Given the description of an element on the screen output the (x, y) to click on. 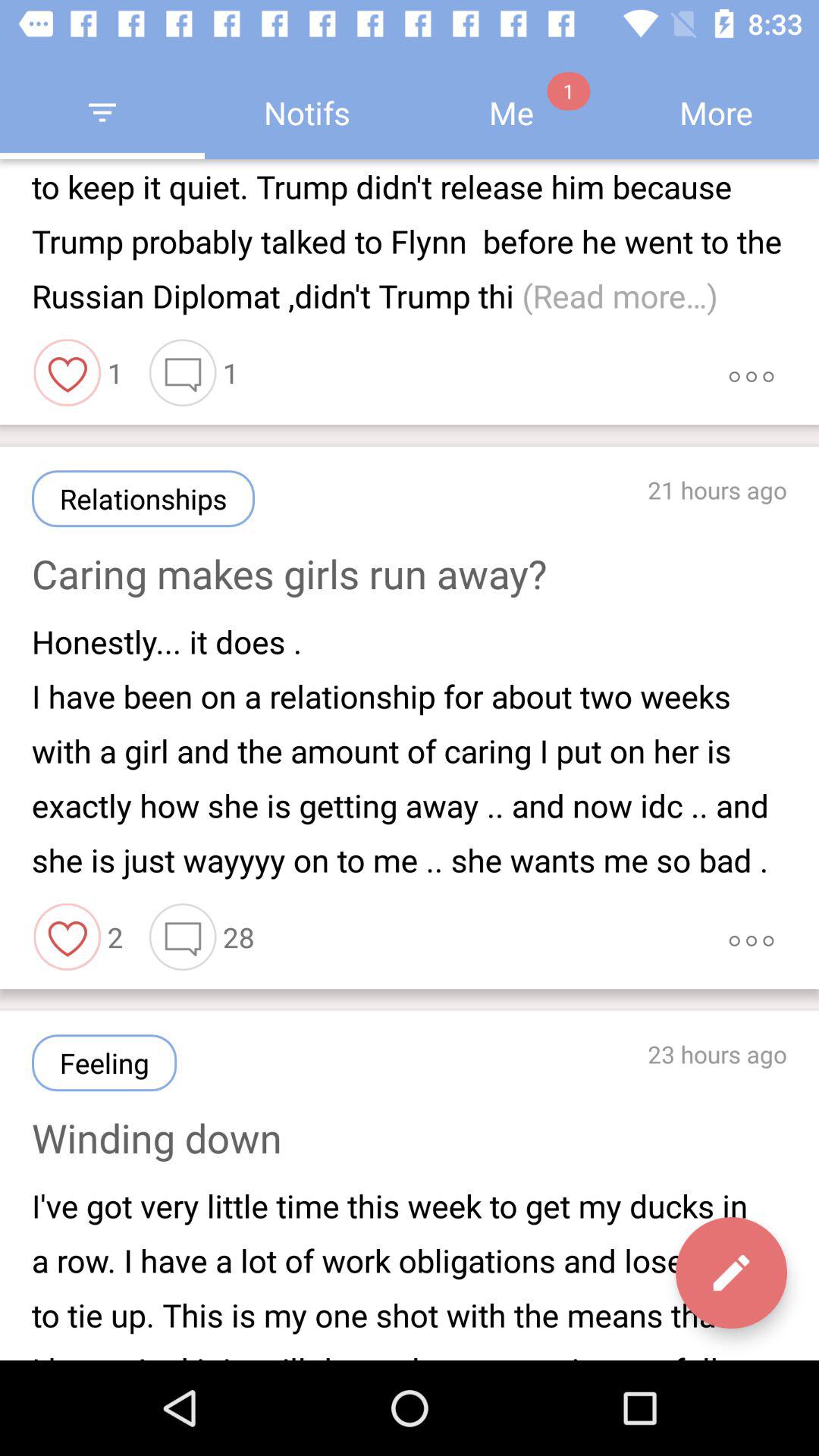
swipe to feeling (103, 1062)
